Given the description of an element on the screen output the (x, y) to click on. 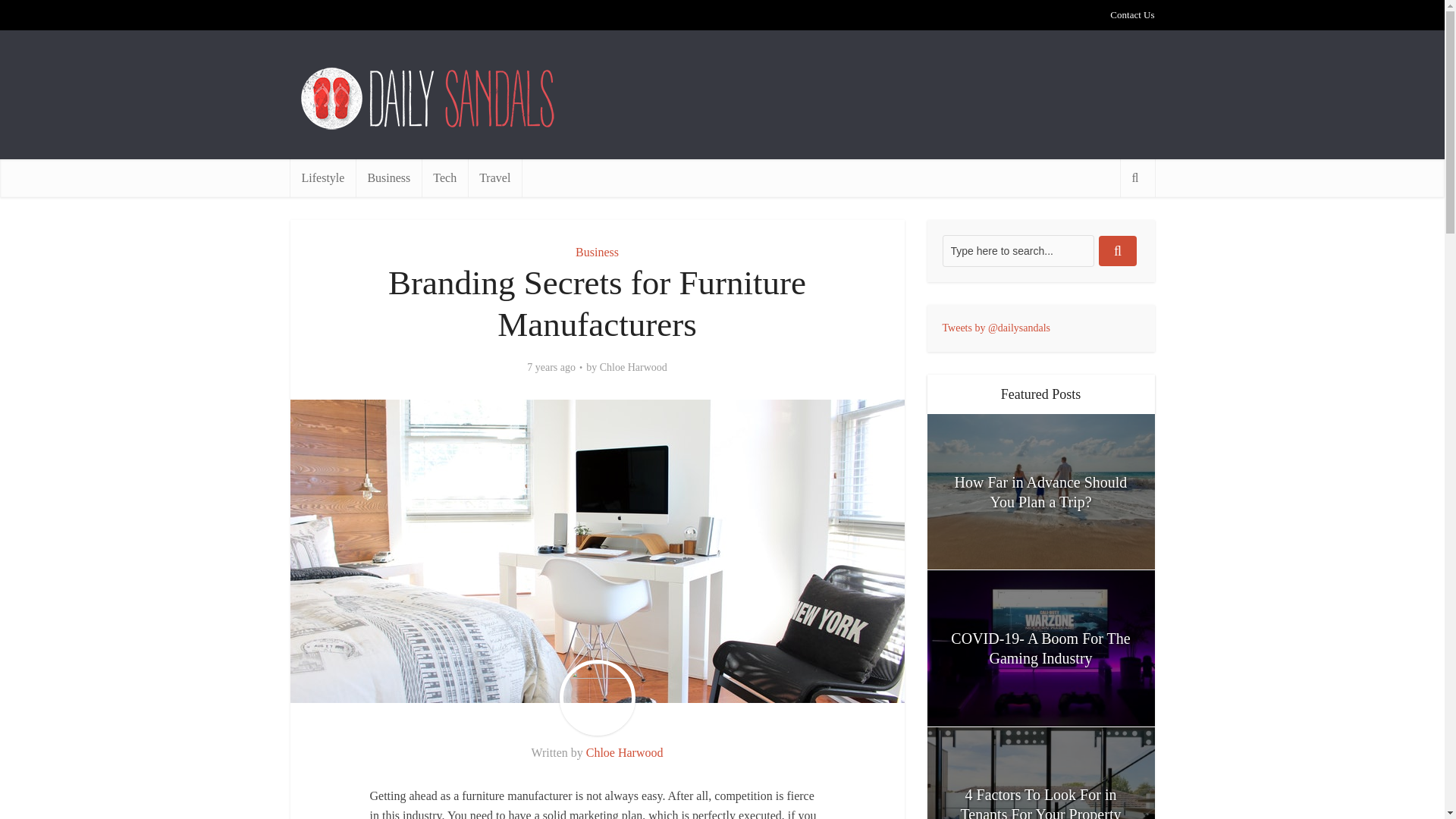
Chloe Harwood (624, 752)
Business (388, 177)
Daily Sandals (429, 98)
Type here to search... (1017, 250)
Business (596, 251)
Tech (444, 177)
Lifestyle (322, 177)
How Far in Advance Should You Plan a Trip? (1040, 491)
Travel (494, 177)
Type here to search... (1017, 250)
Chloe Harwood (632, 367)
Contact Us (1131, 14)
How Far in Advance Should You Plan a Trip? (1040, 492)
